Given the description of an element on the screen output the (x, y) to click on. 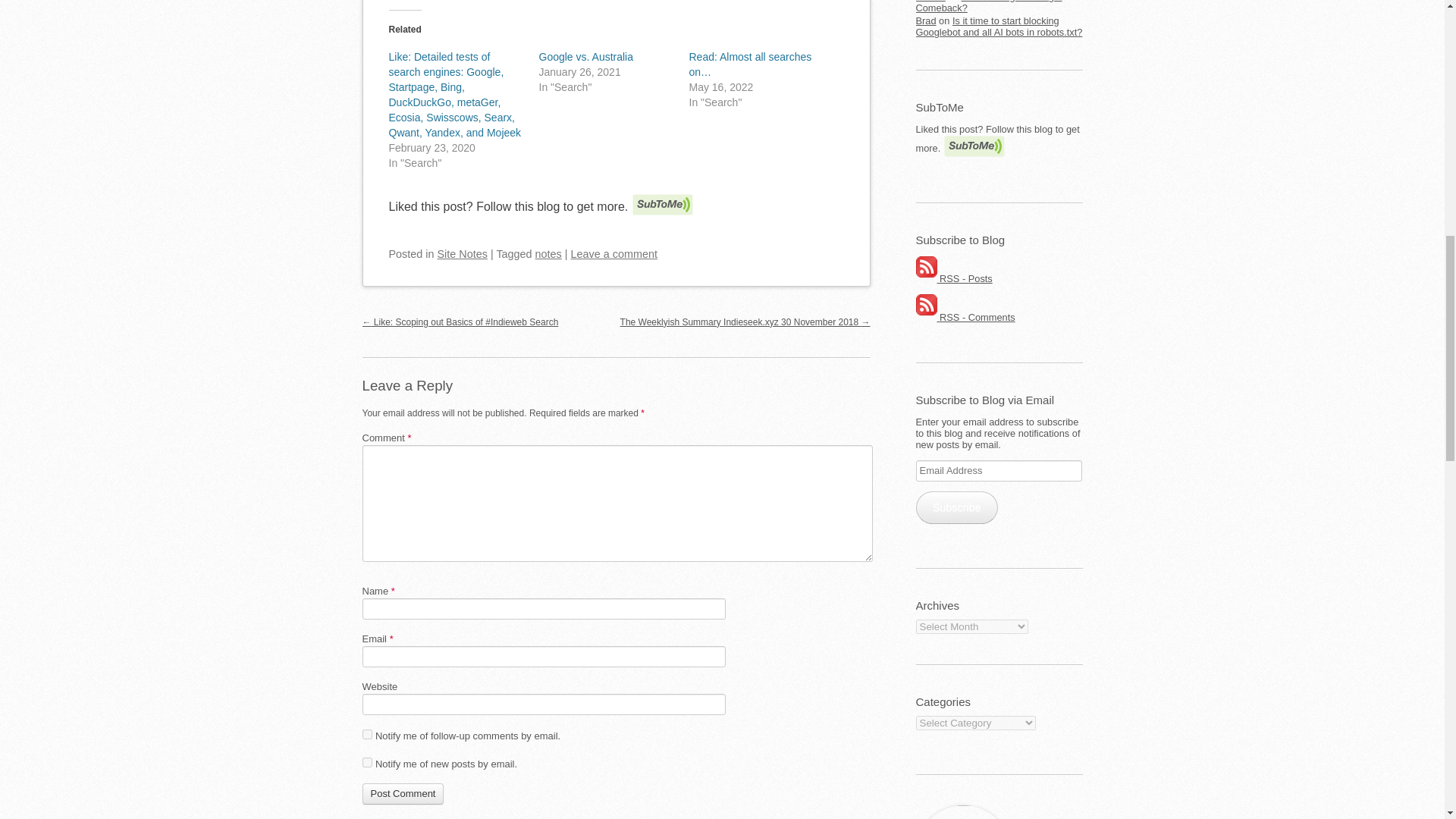
Leave a comment (614, 254)
notes (548, 254)
Subscribe to comments (964, 317)
Post Comment (403, 793)
Google vs. Australia (585, 56)
Google vs. Australia (585, 56)
subscribe (367, 762)
Post Comment (403, 793)
subscribe (367, 734)
Site Notes (462, 254)
Subscribe to posts (953, 278)
